Given the description of an element on the screen output the (x, y) to click on. 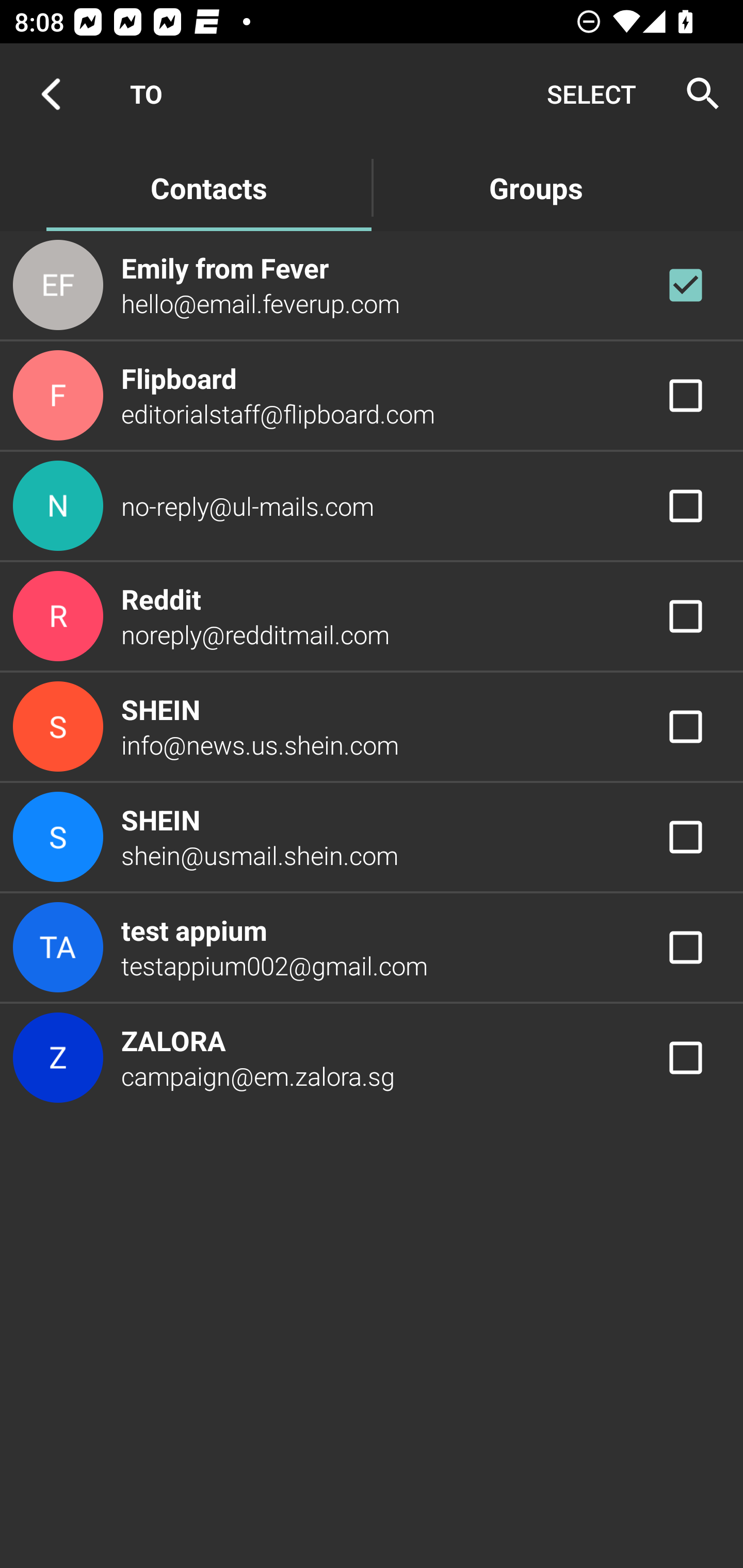
Navigate up (50, 93)
SELECT (590, 93)
Search (696, 93)
Contacts (208, 187)
Groups (535, 187)
Emily from Fever hello@email.feverup.com (371, 284)
Flipboard editorialstaff@flipboard.com (371, 395)
no-reply@ul-mails.com (371, 505)
Reddit noreply@redditmail.com (371, 616)
SHEIN info@news.us.shein.com (371, 726)
SHEIN shein@usmail.shein.com (371, 836)
test appium testappium002@gmail.com (371, 947)
ZALORA campaign@em.zalora.sg (371, 1057)
